Given the description of an element on the screen output the (x, y) to click on. 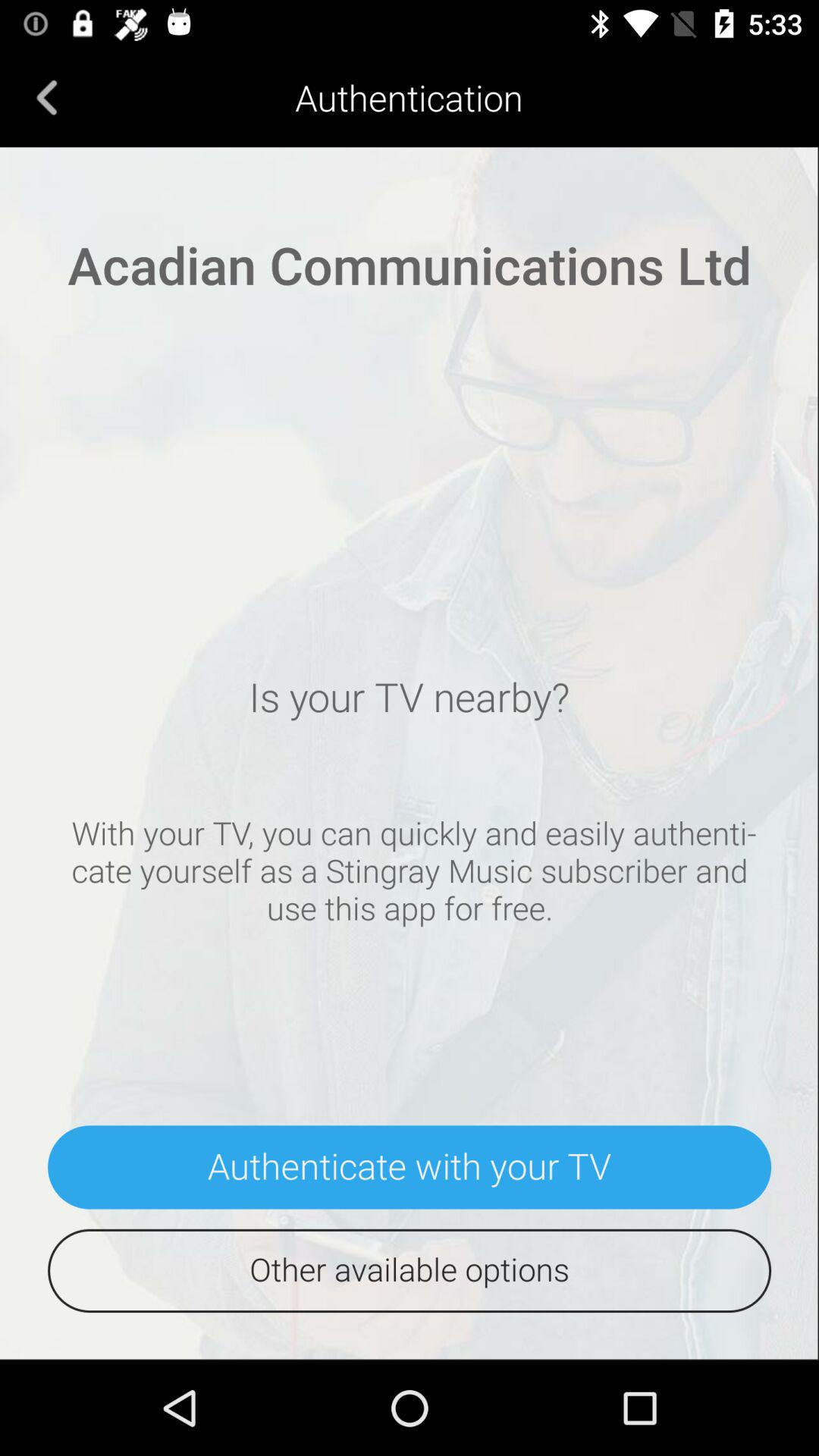
choose the icon at the top left corner (47, 97)
